Given the description of an element on the screen output the (x, y) to click on. 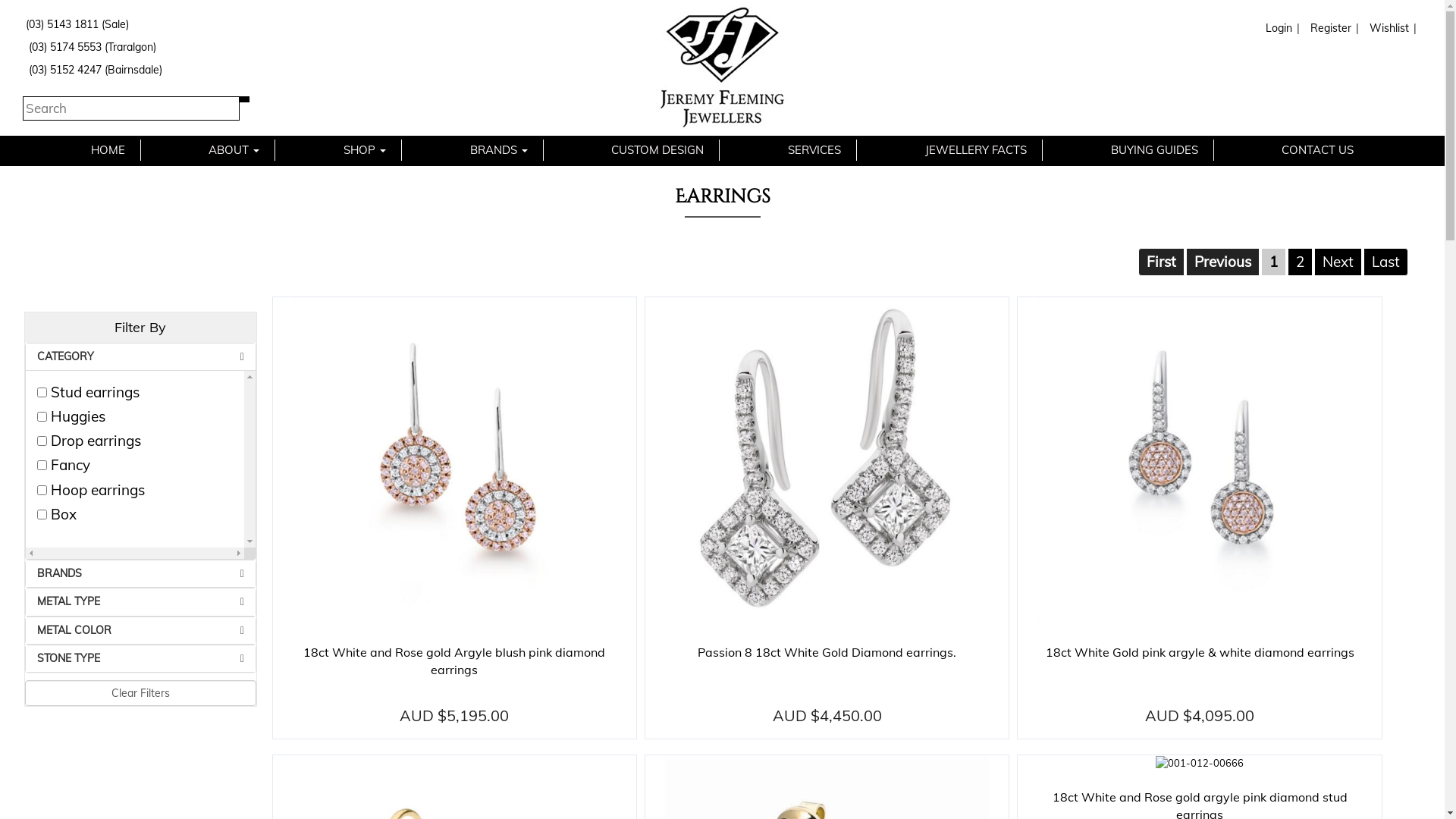
Box Element type: text (42, 514)
1 Element type: text (1273, 261)
METAL COLOR Element type: text (140, 630)
Clear Filters Element type: text (140, 693)
2 Element type: text (1299, 261)
Drop earrings Element type: text (42, 440)
METAL TYPE Element type: text (140, 601)
BRANDS Element type: text (498, 149)
Fancy Element type: text (42, 465)
SERVICES Element type: text (814, 149)
JEWELLERY FACTS Element type: text (975, 149)
Last Element type: text (1385, 261)
BUYING GUIDES Element type: text (1153, 149)
Hoop earrings Element type: text (42, 490)
Stud earrings Element type: text (42, 392)
SHOP Element type: text (364, 149)
CONTACT US Element type: text (1317, 149)
Huggies Element type: text (42, 416)
ABOUT Element type: text (233, 149)
CATEGORY Element type: text (140, 356)
BRANDS Element type: text (140, 573)
First Element type: text (1161, 261)
Previous Element type: text (1222, 261)
Next Element type: text (1337, 261)
CUSTOM DESIGN Element type: text (657, 149)
Login Element type: text (1277, 27)
Jeremy Fleming Jewellers In Sale & Traralgon, VIC  Element type: hover (722, 67)
STONE TYPE Element type: text (140, 658)
Register Element type: text (1329, 27)
Wishlist Element type: text (1387, 27)
HOME Element type: text (107, 149)
